Given the description of an element on the screen output the (x, y) to click on. 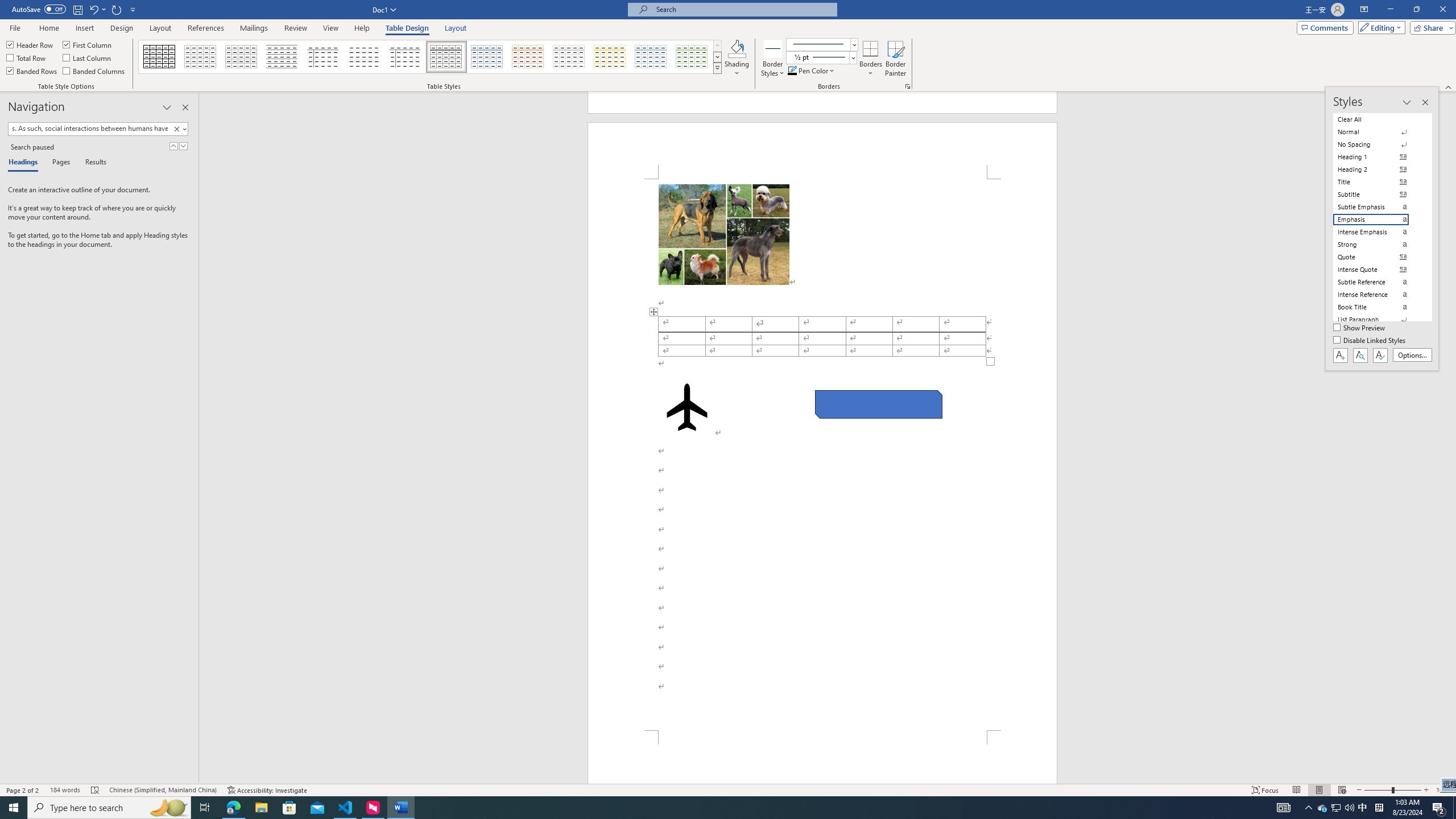
Undo Style (96, 9)
List Paragraph (1377, 319)
Border Styles (773, 48)
Pen Style (821, 44)
Undo Style (92, 9)
Row Down (717, 56)
Plain Table 1 (241, 56)
Title (1377, 182)
Show Preview (1360, 328)
Subtle Reference (1377, 282)
Next Result (183, 145)
